Given the description of an element on the screen output the (x, y) to click on. 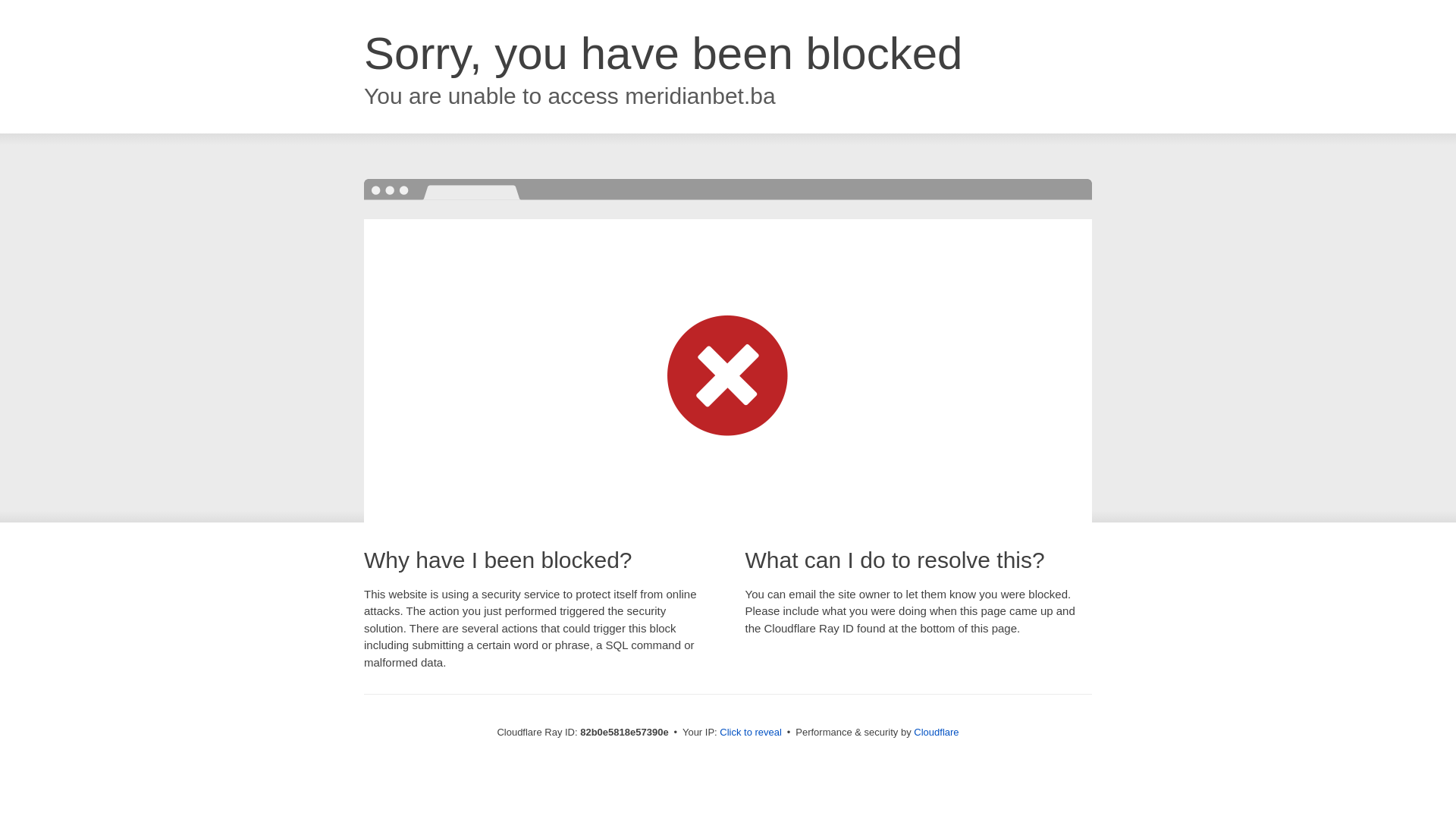
Cloudflare Element type: text (935, 731)
Click to reveal Element type: text (750, 732)
